Given the description of an element on the screen output the (x, y) to click on. 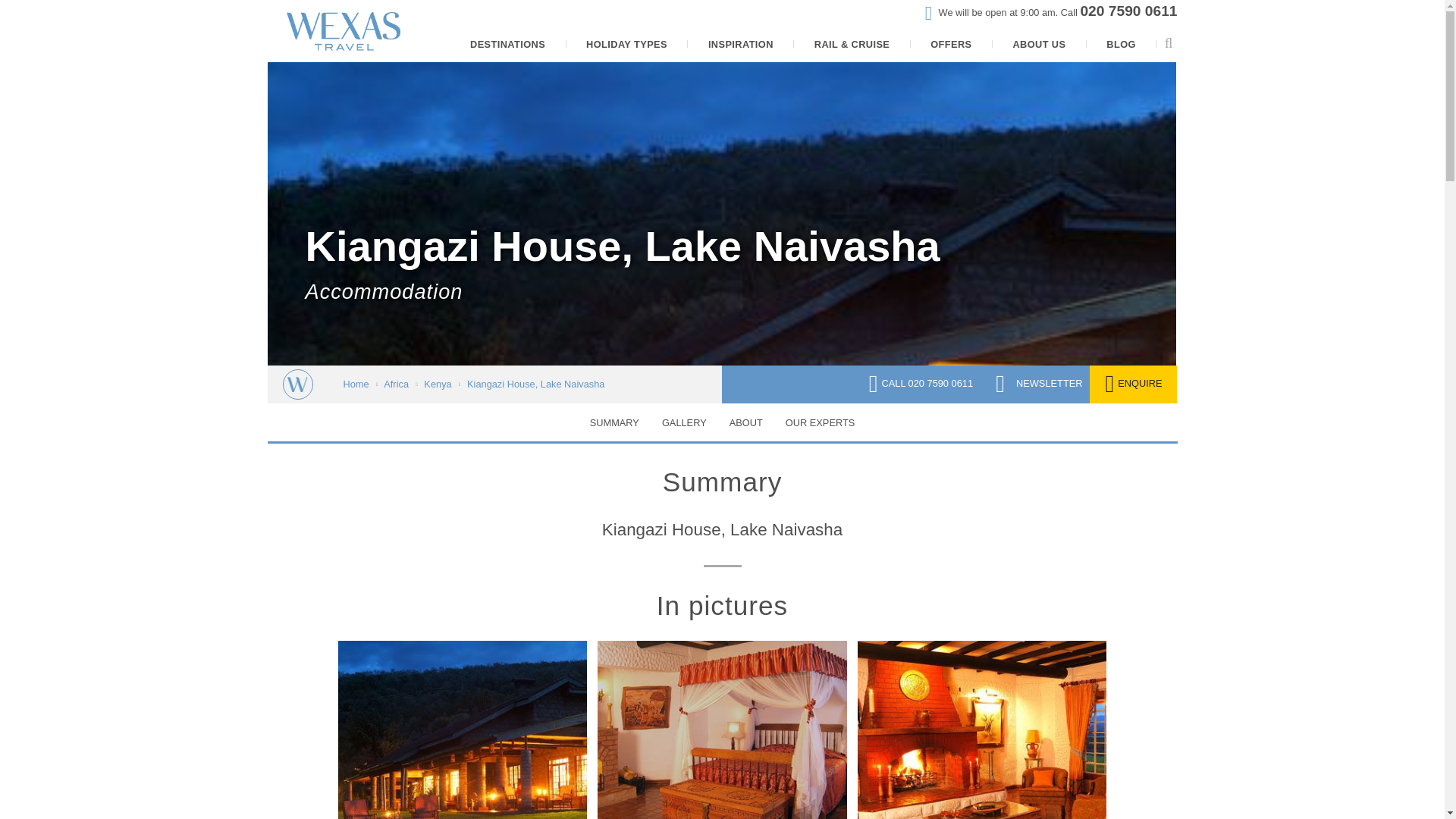
Kiangazi House, bedroom (721, 729)
We will be open at 9:00 am. Call 020 7590 0611 (1050, 12)
Kiangazi House (462, 729)
Kiangazi House, lounge (981, 729)
DESTINATIONS (507, 44)
